Given the description of an element on the screen output the (x, y) to click on. 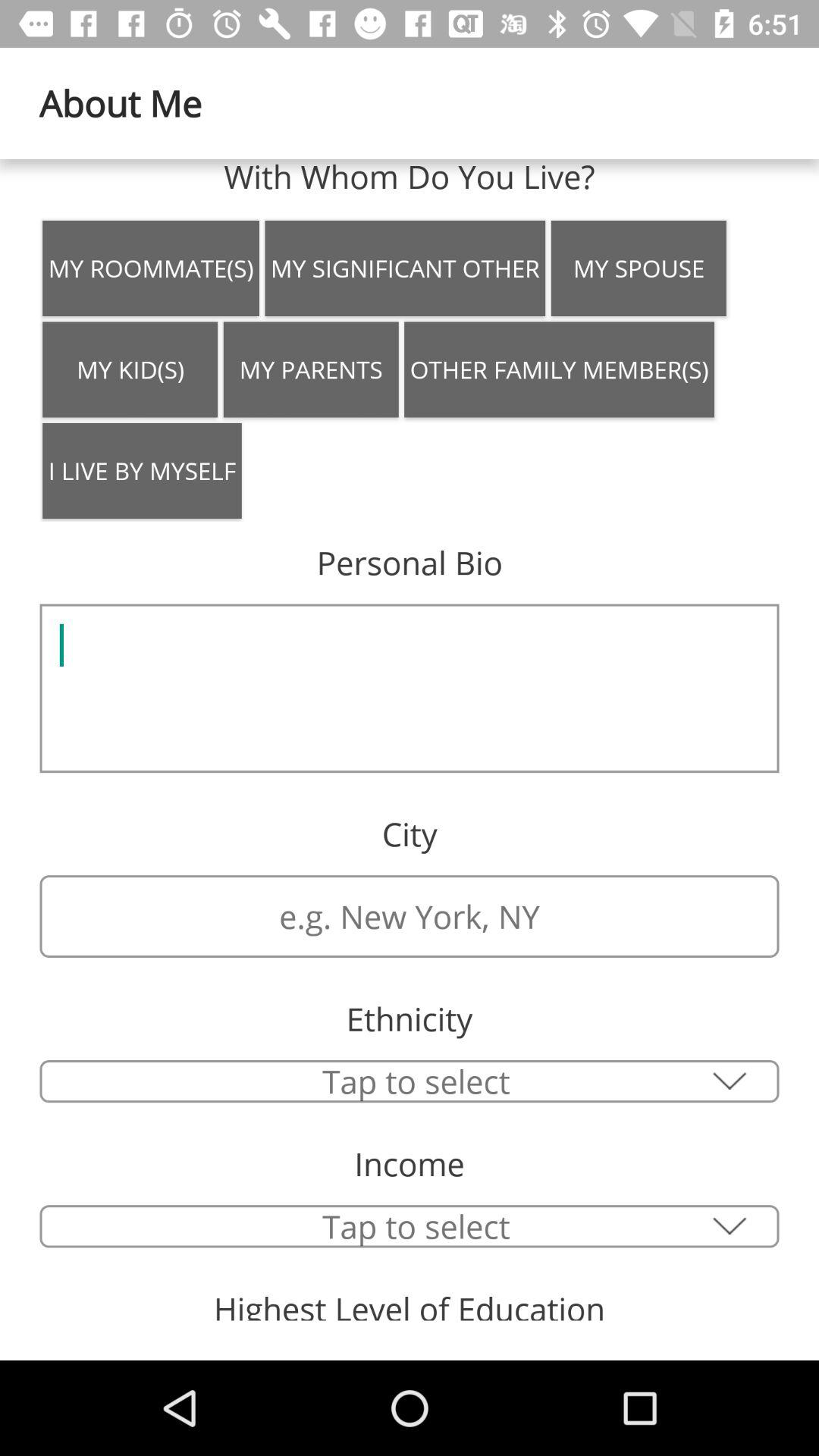
open icon above other family member (638, 268)
